Given the description of an element on the screen output the (x, y) to click on. 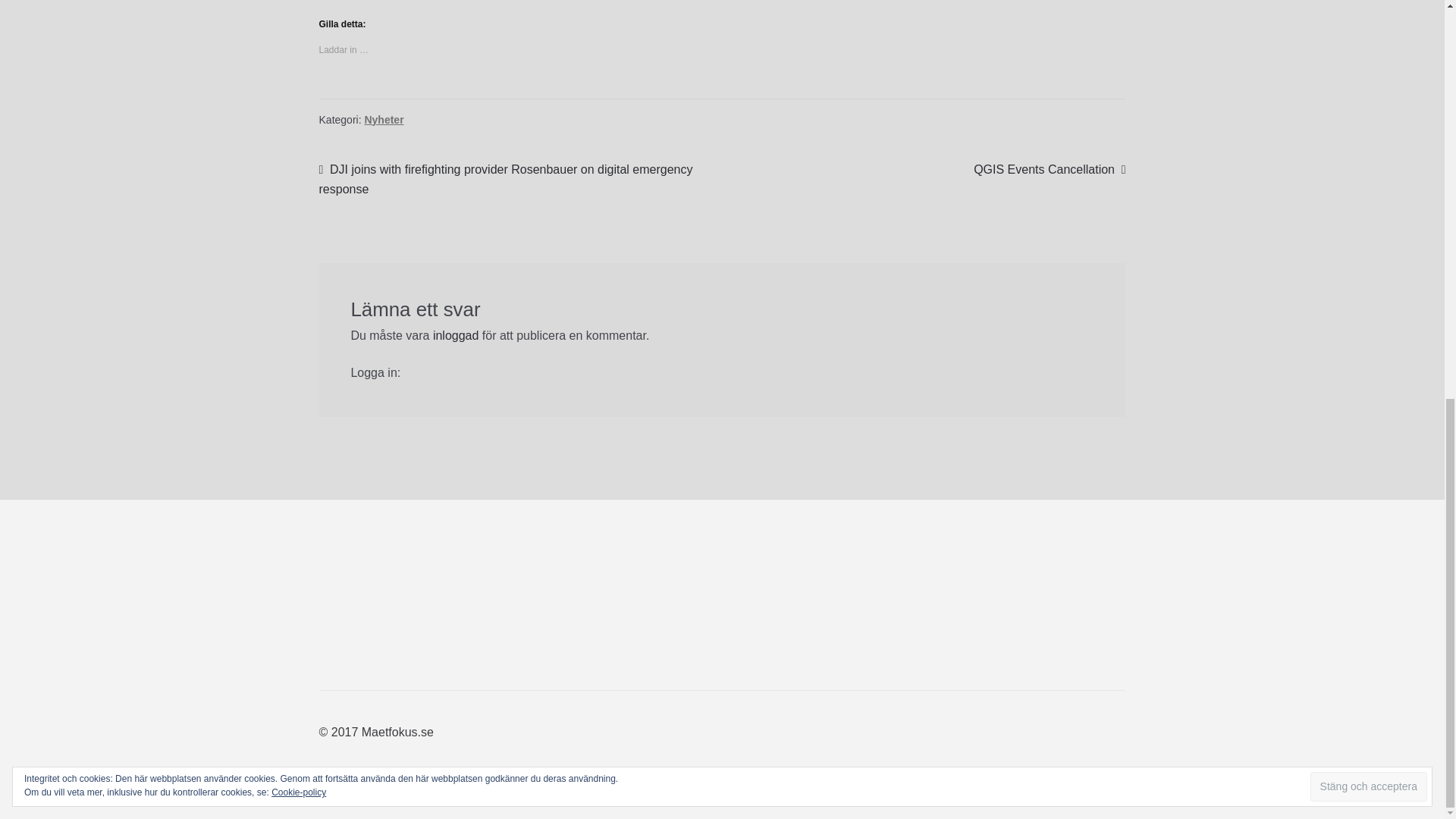
inloggad (455, 335)
Cookie-policy (298, 17)
Nyheter (383, 119)
